Given the description of an element on the screen output the (x, y) to click on. 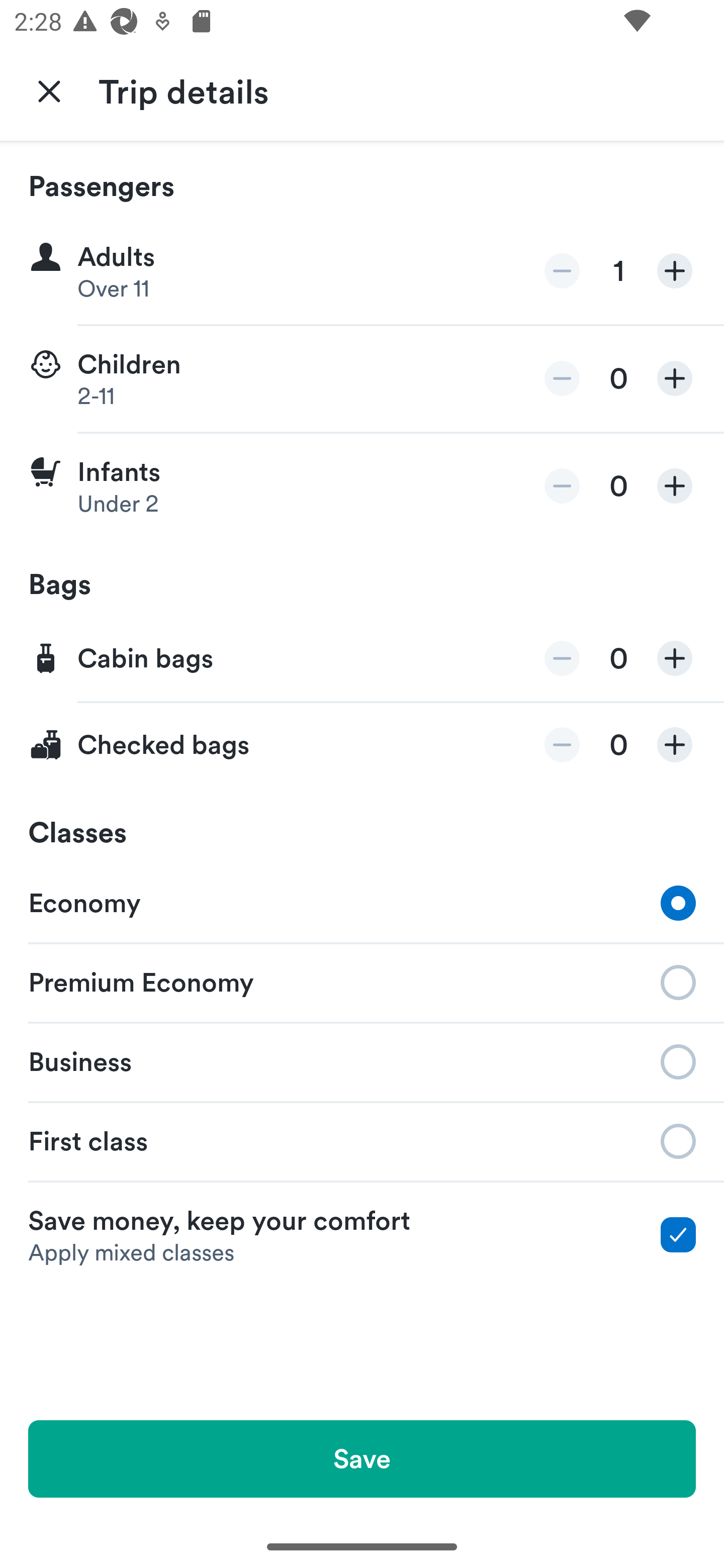
Navigate up (49, 90)
Remove 1 Add Adults Over 11 (362, 271)
Remove (561, 270)
Add (674, 270)
Remove 0 Add Children 2-11 (362, 379)
Remove (561, 377)
Add (674, 377)
Remove 0 Add Infants Under 2 (362, 485)
Remove (561, 485)
Add (674, 485)
Remove 0 Add Cabin bags (362, 659)
Remove (561, 658)
Add (674, 658)
Remove 0 Add Checked bags (362, 744)
Remove (561, 744)
Add (674, 744)
Premium Economy (362, 980)
Business (362, 1060)
First class (362, 1141)
Save (361, 1458)
